Given the description of an element on the screen output the (x, y) to click on. 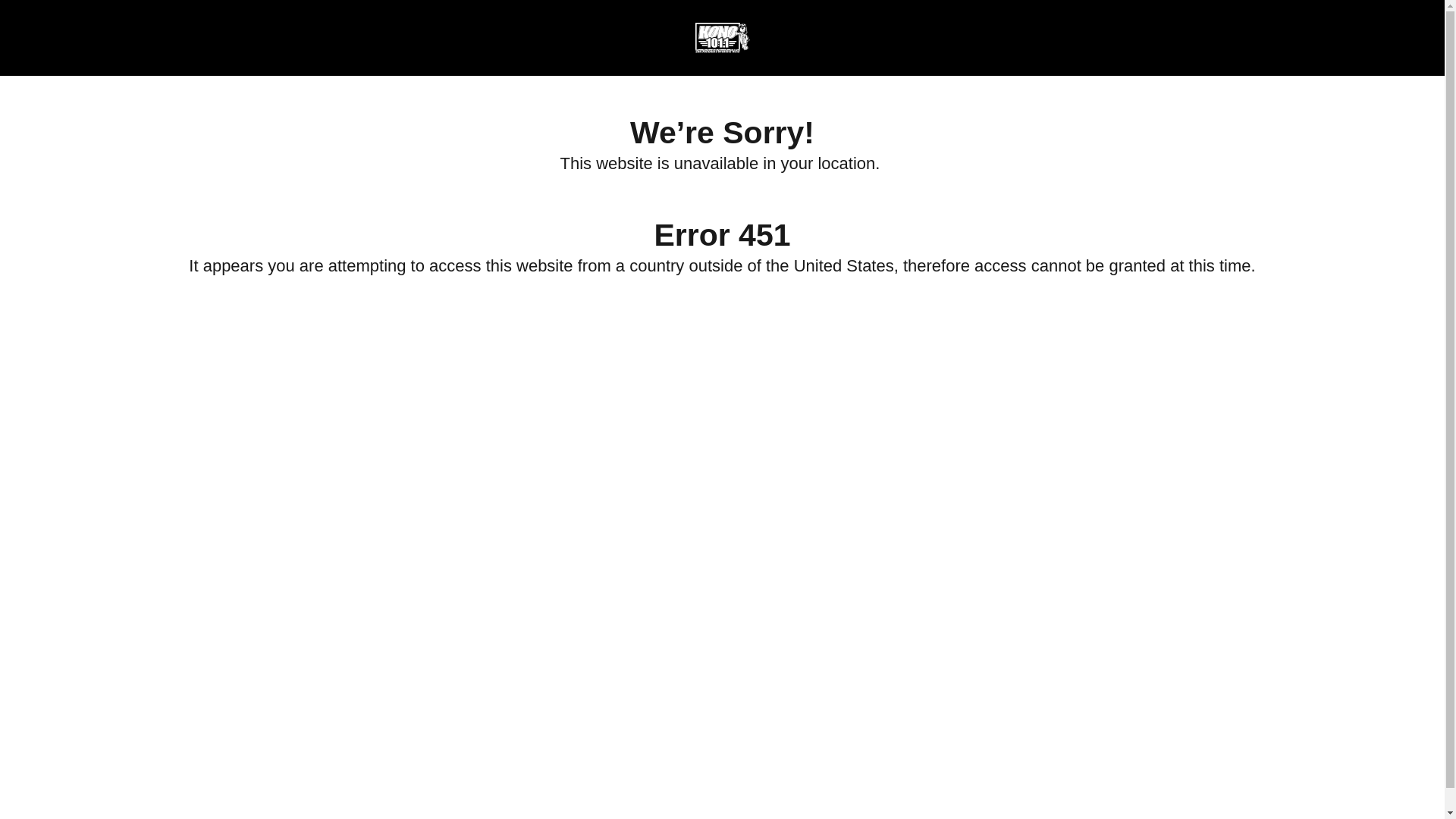
KONO 101.1 (721, 37)
